Given the description of an element on the screen output the (x, y) to click on. 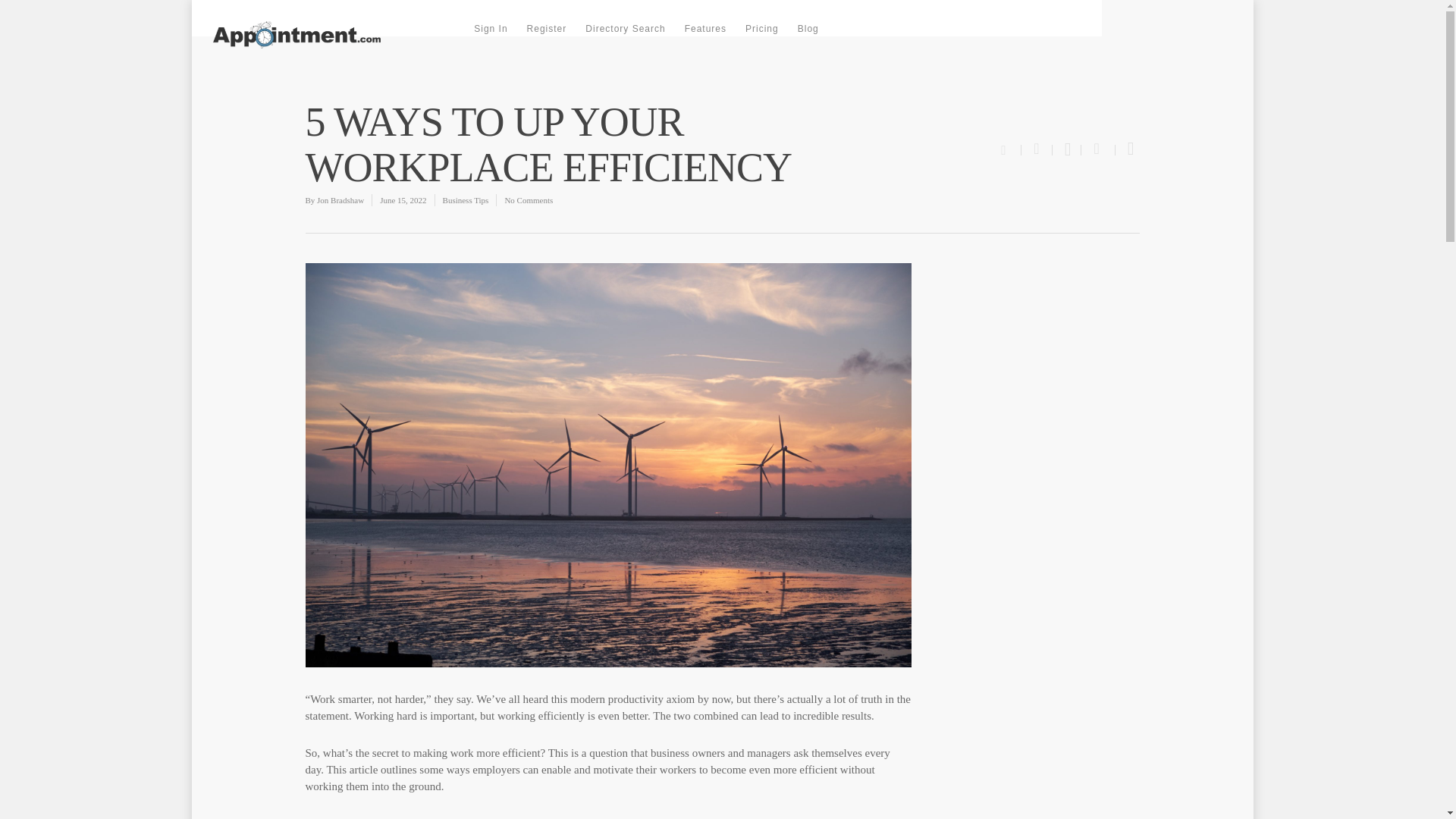
Jon Bradshaw (340, 199)
Directory Search (625, 28)
Pin this (1127, 149)
Business Tips (465, 199)
Register (547, 28)
No Comments (528, 199)
Blog (808, 28)
Sign In (490, 28)
Share this (1098, 149)
Working hard (384, 715)
